Given the description of an element on the screen output the (x, y) to click on. 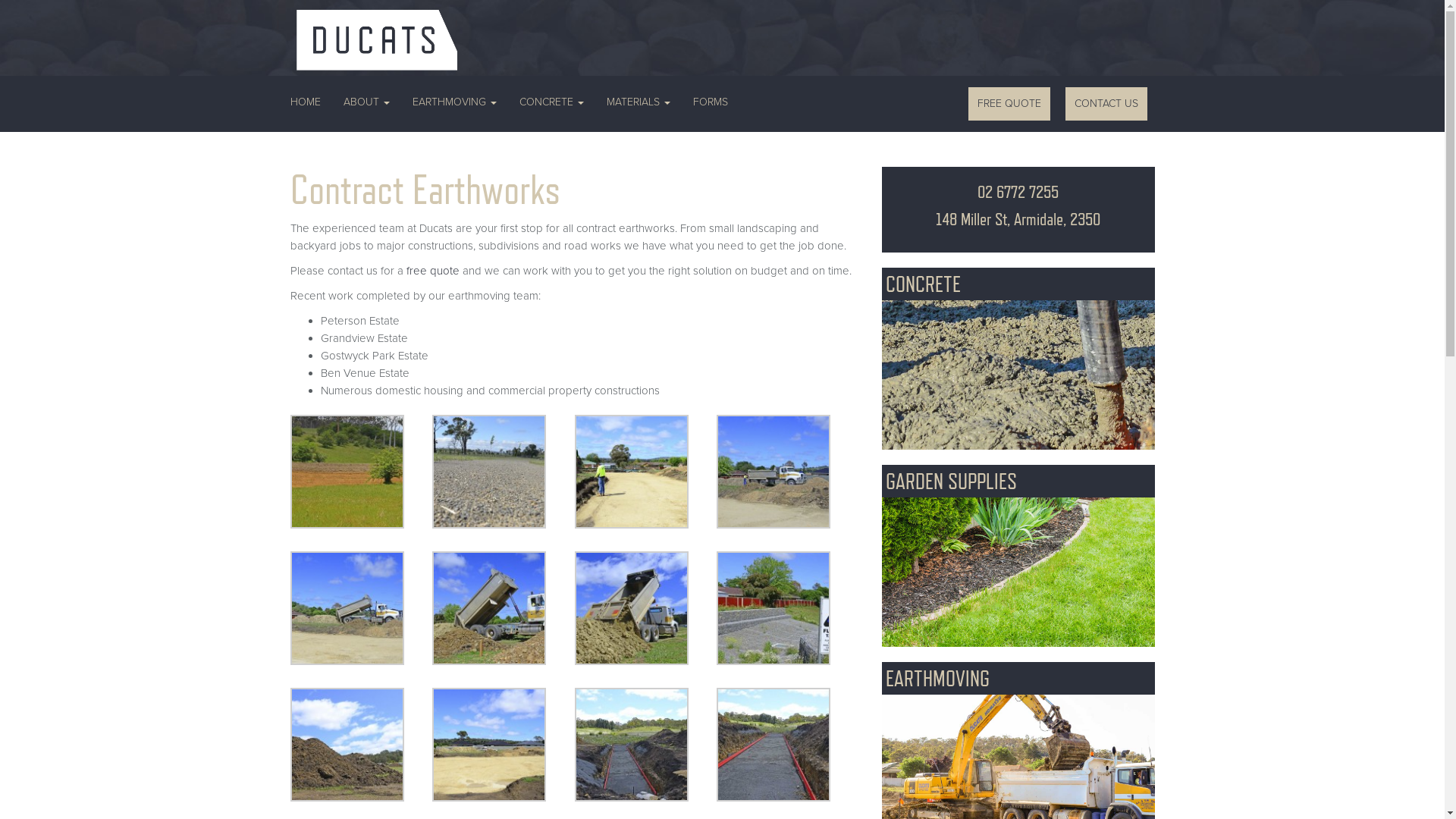
Contract Earthworks Element type: hover (360, 608)
Contract Earthworks Element type: hover (360, 744)
GARDEN SUPPLIES Element type: text (1017, 555)
free quote Element type: text (432, 270)
MATERIALS Element type: text (637, 102)
Contract Earthworks Element type: hover (645, 744)
FREE QUOTE Element type: text (1008, 103)
Contract Earthworks Element type: hover (787, 471)
CONTACT US Element type: text (1105, 103)
Contract Earthworks Element type: hover (645, 471)
CONCRETE Element type: text (551, 102)
CONCRETE Element type: text (1017, 358)
Contract Earthworks Element type: hover (503, 608)
Contract Earthworks Element type: hover (360, 471)
FORMS Element type: text (709, 102)
ABOUT Element type: text (366, 102)
Contract Earthworks Element type: hover (645, 608)
HOME Element type: text (310, 102)
Contract Earthworks Element type: hover (503, 744)
Contract Earthworks Element type: hover (503, 471)
Contract Earthworks Element type: hover (787, 608)
Contract Earthworks Element type: hover (787, 744)
EARTHMOVING Element type: text (453, 102)
